Given the description of an element on the screen output the (x, y) to click on. 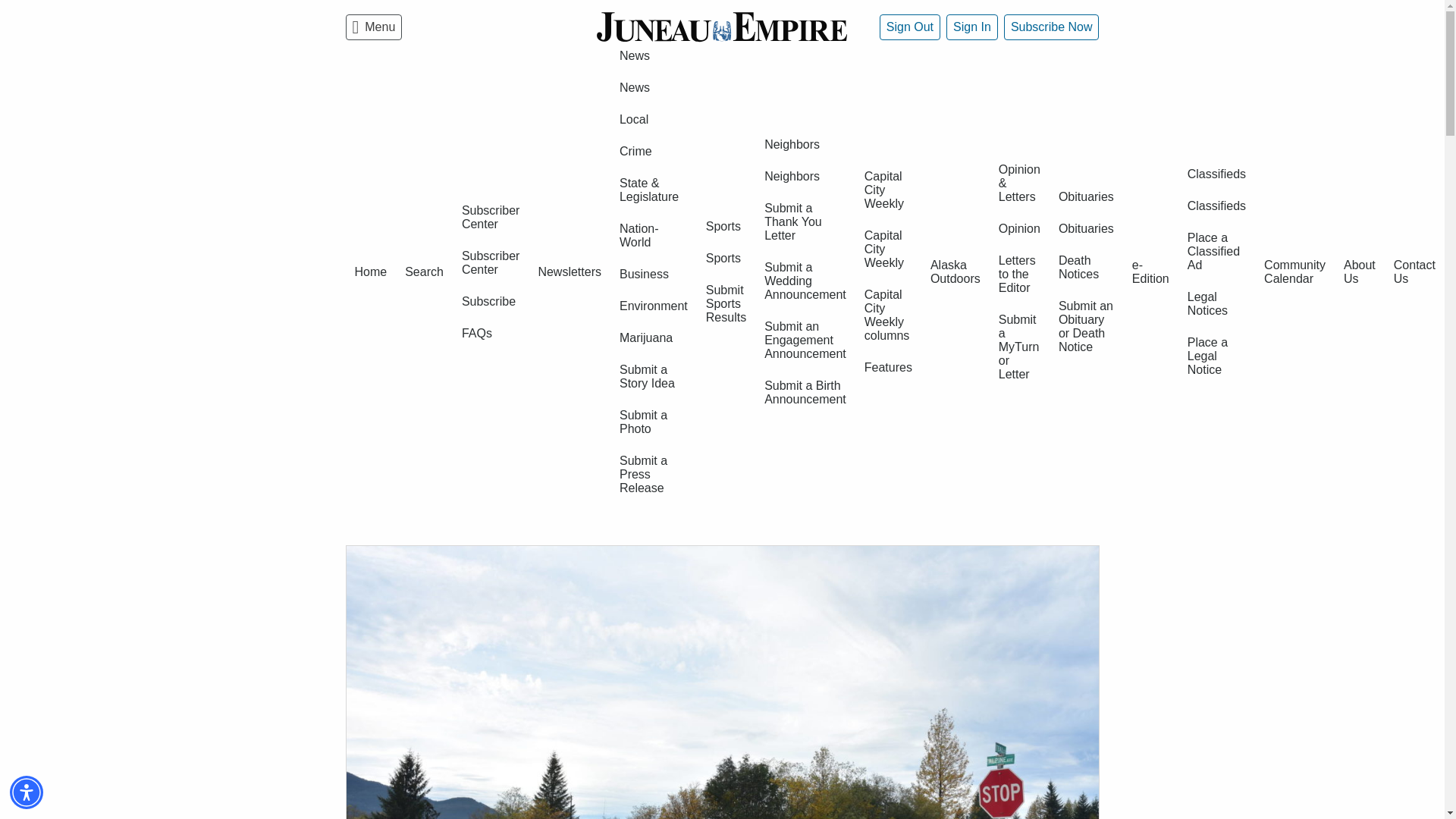
Accessibility Menu (26, 792)
